Given the description of an element on the screen output the (x, y) to click on. 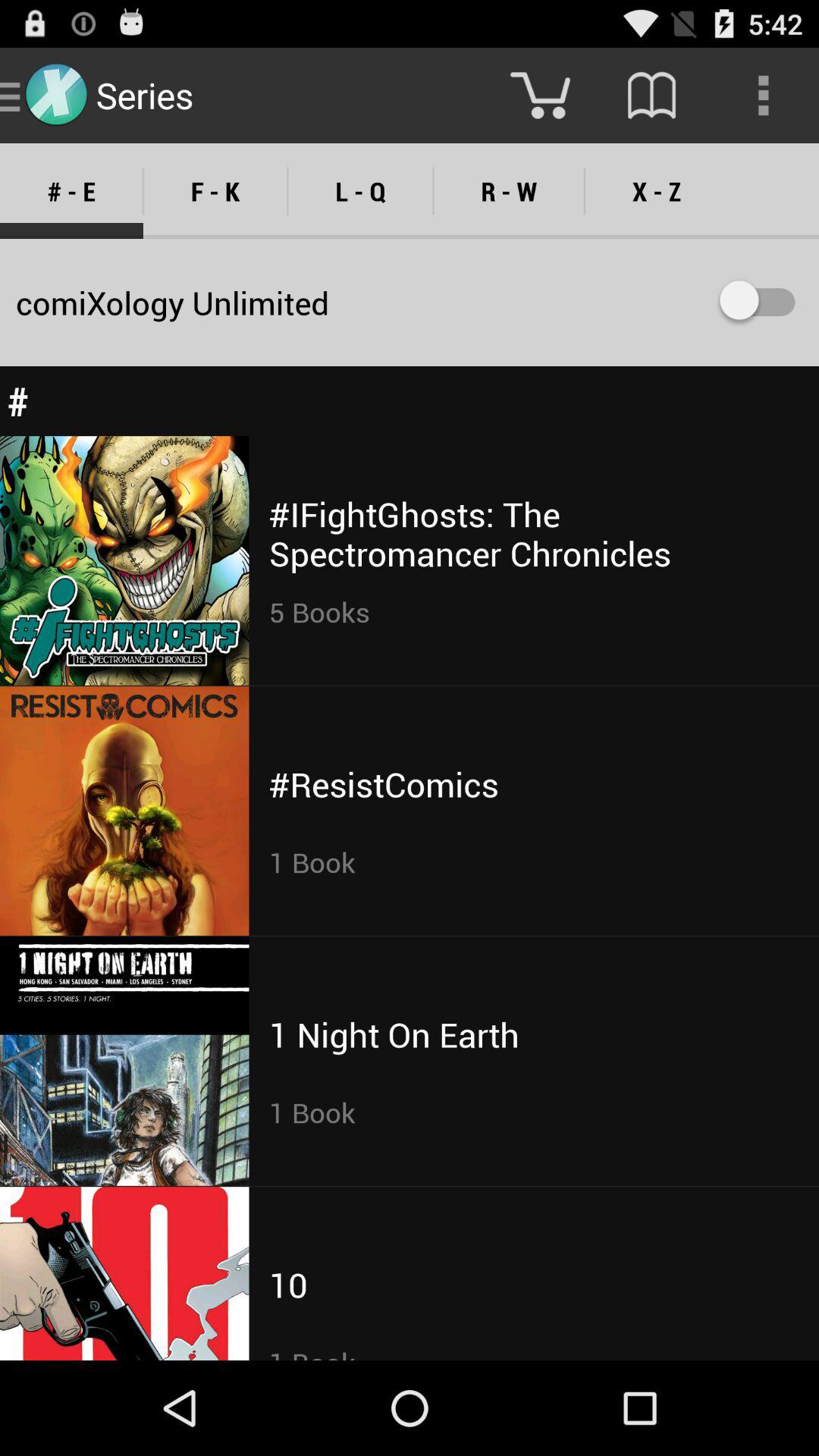
jump to the # - e item (71, 190)
